Given the description of an element on the screen output the (x, y) to click on. 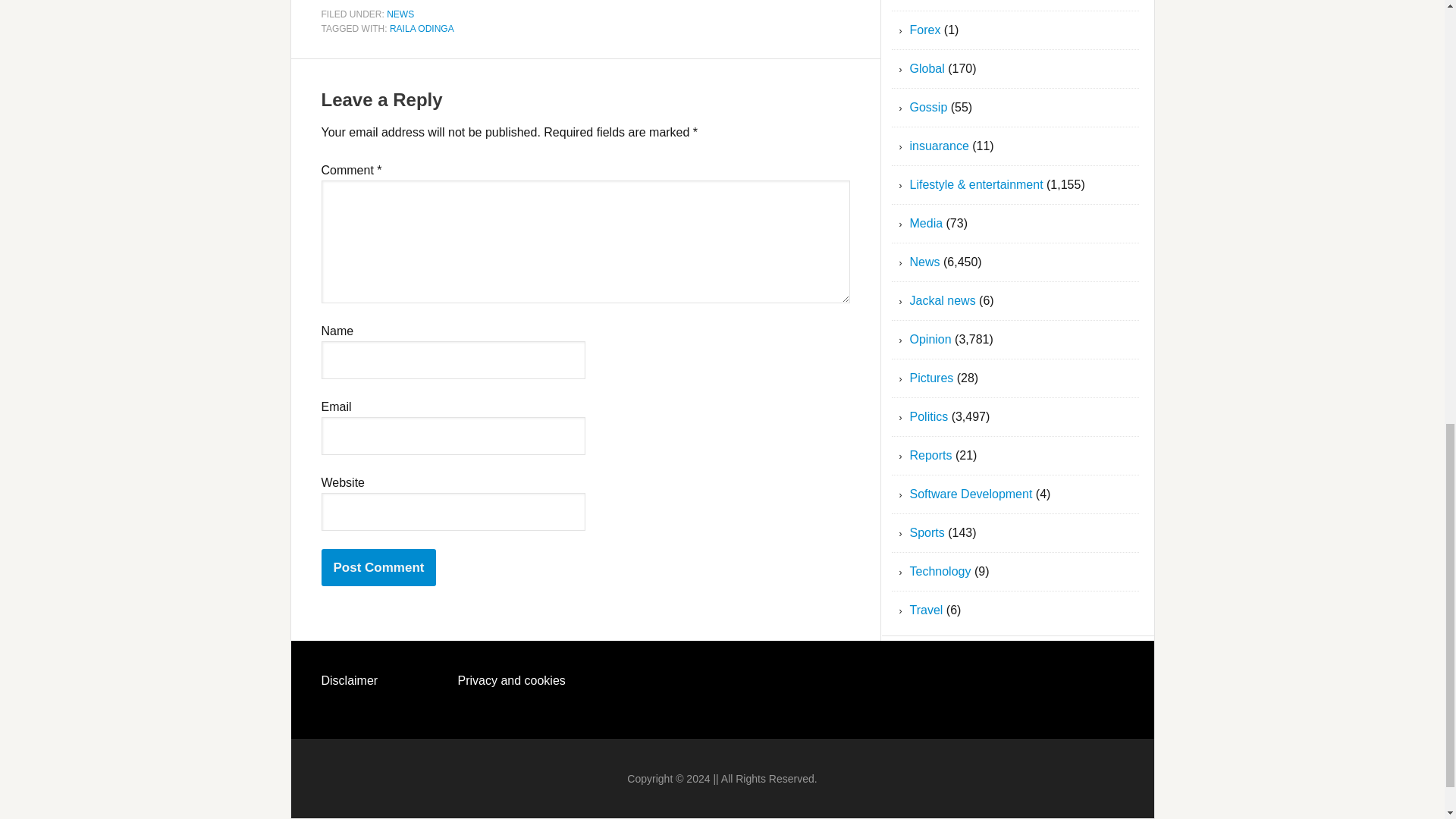
Opinion (931, 338)
RAILA ODINGA (422, 28)
Politics (929, 416)
NEWS (400, 13)
Pictures (931, 377)
Post Comment (378, 567)
Media (926, 223)
Post Comment (378, 567)
Forex (925, 29)
insuarance (939, 145)
Global (927, 68)
News (925, 261)
Jackal news (942, 300)
Gossip (928, 106)
